Given the description of an element on the screen output the (x, y) to click on. 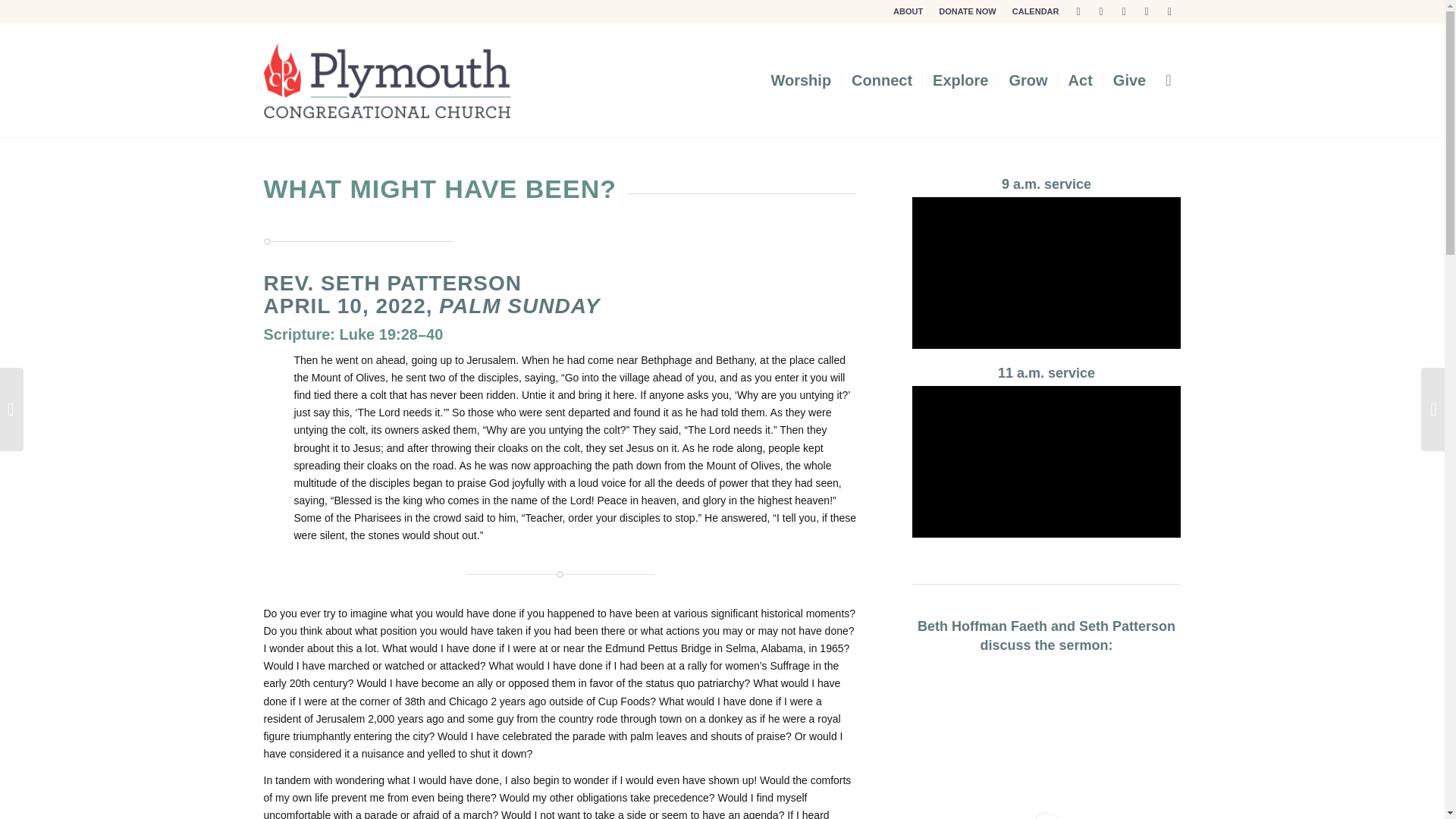
CALENDAR (1035, 11)
Twitter (1078, 11)
Vimeo (1169, 11)
Youtube (1146, 11)
ABOUT (908, 11)
Facebook (1101, 11)
A Fragile Possibility, Reference Sermon 4-10 (1046, 721)
9 a.m. April 10, 2022 Worship.  Palm Sunday (1046, 272)
Instagram (1124, 11)
11 a.m. April 10, 2022 Worship. Palm Sunday (1046, 461)
